Given the description of an element on the screen output the (x, y) to click on. 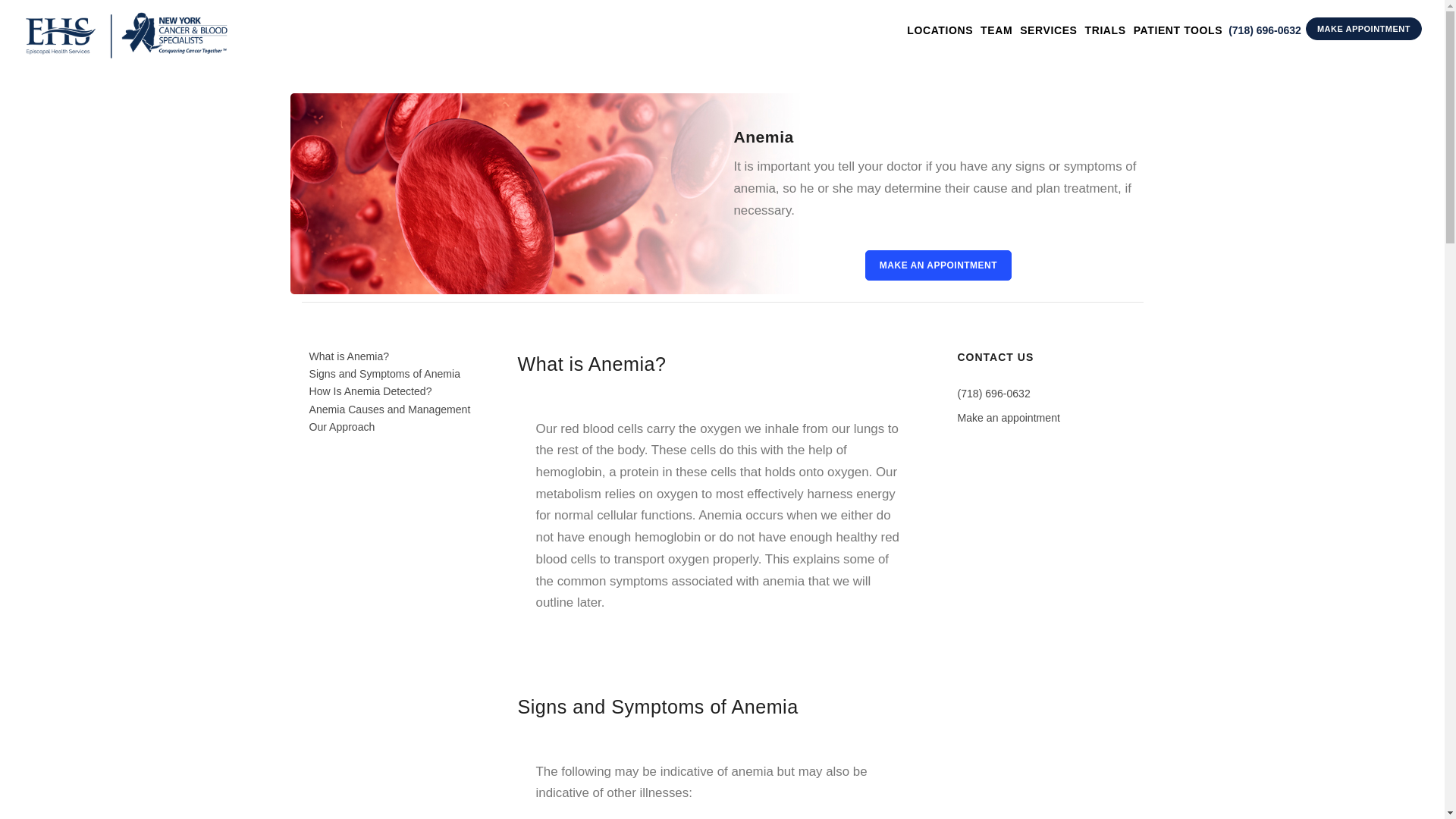
How Is Anemia Detected? (370, 390)
Make an appointment (1007, 417)
MAKE AN APPOINTMENT (937, 265)
MAKE APPOINTMENT (1364, 28)
Anemia Causes and Management (389, 409)
TEAM (995, 30)
Our Approach (341, 426)
LOCATIONS (939, 30)
SERVICES (1047, 30)
What is Anemia? (349, 356)
Signs and Symptoms of Anemia (384, 373)
TRIALS (1104, 30)
PATIENT TOOLS (1178, 30)
